Given the description of an element on the screen output the (x, y) to click on. 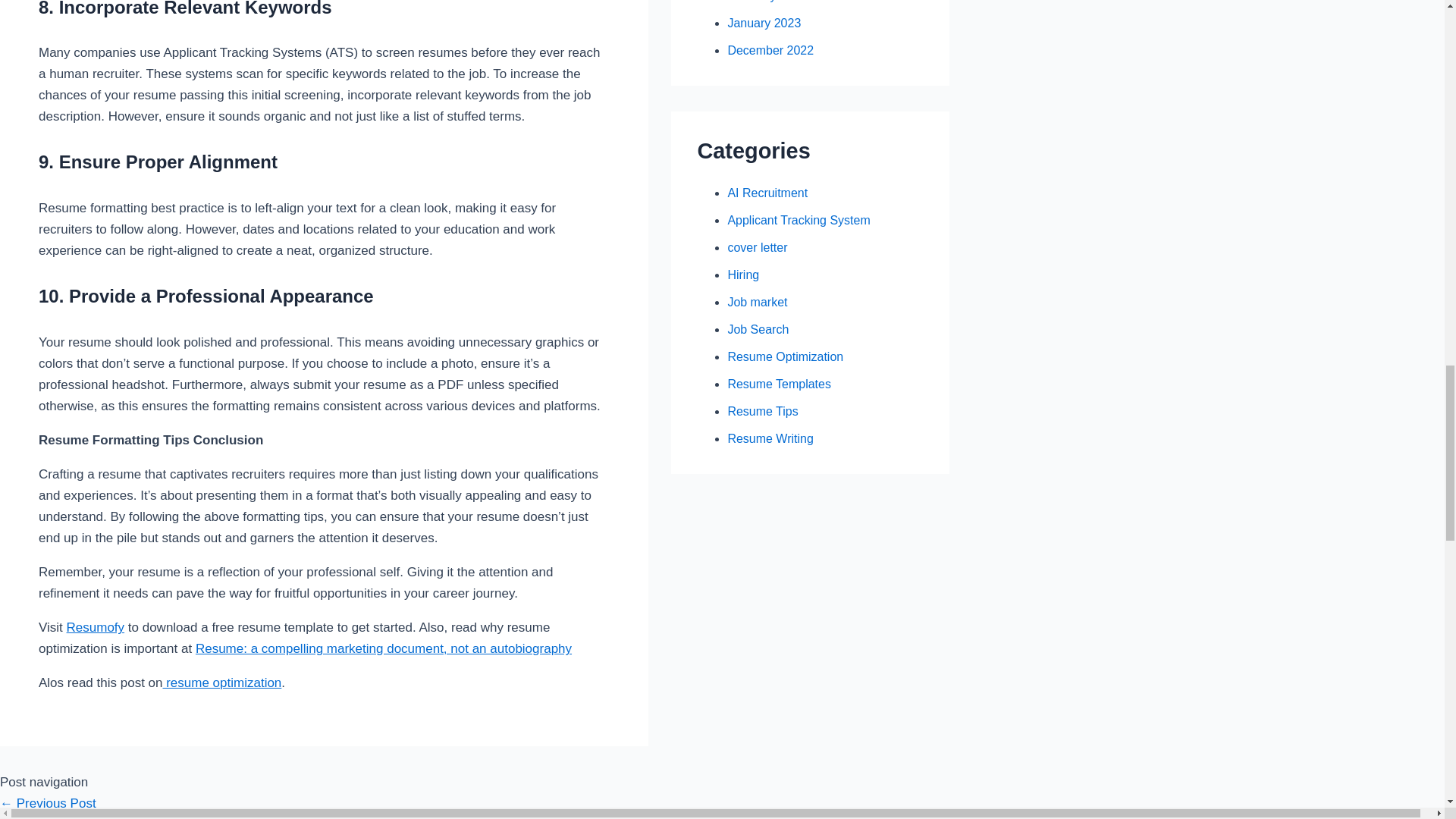
resume optimization (221, 682)
AI-Optimized Resume: The Future of Job Applications (48, 803)
Resumofy (95, 626)
